Given the description of an element on the screen output the (x, y) to click on. 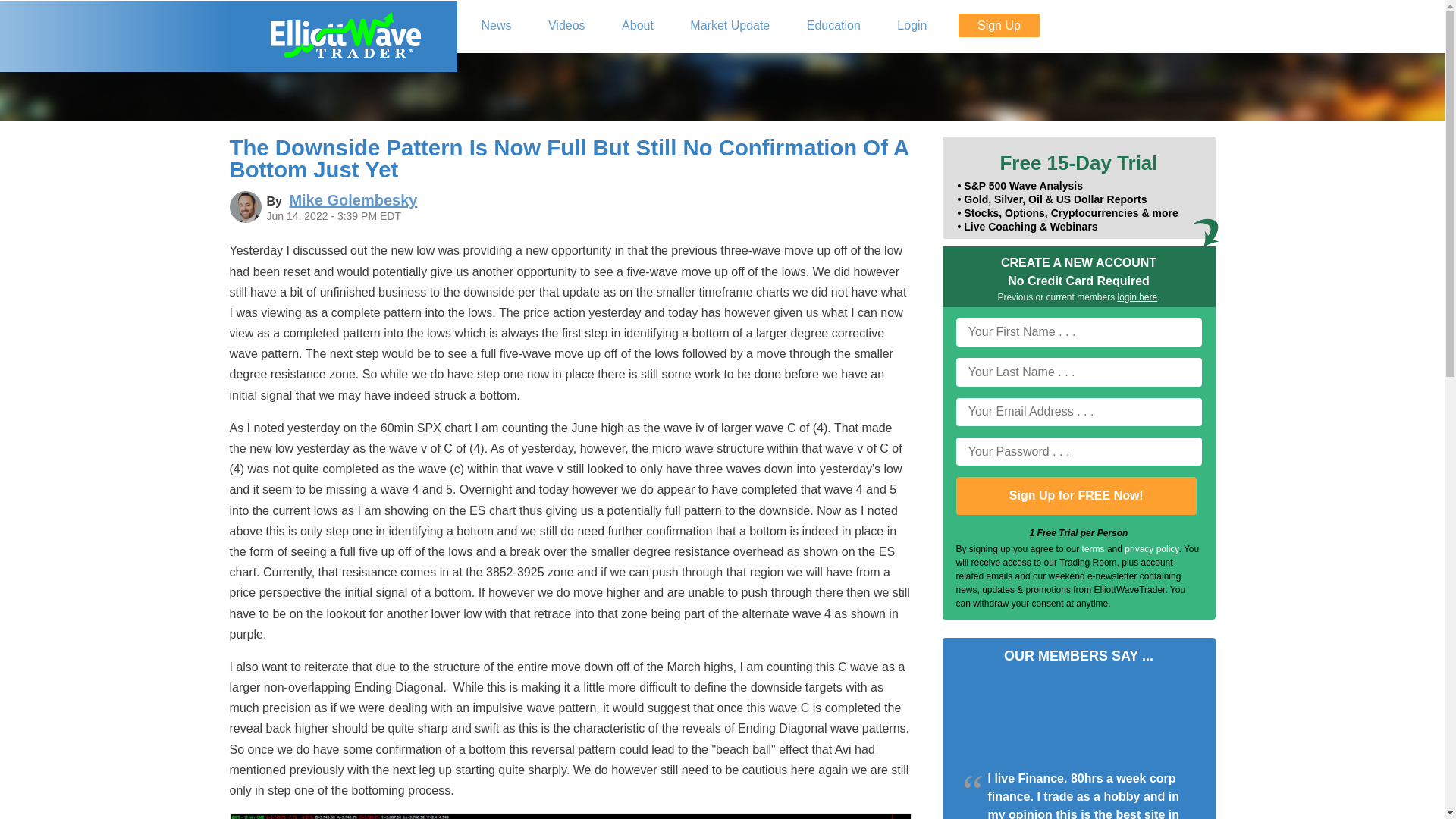
Elliott Wave Education (834, 25)
Your Password (1078, 451)
Education (834, 25)
terms (1093, 548)
Videos (567, 25)
Market Update (729, 25)
Market Update (729, 25)
Members Login (911, 25)
Login (911, 25)
Sign Up (998, 24)
